Given the description of an element on the screen output the (x, y) to click on. 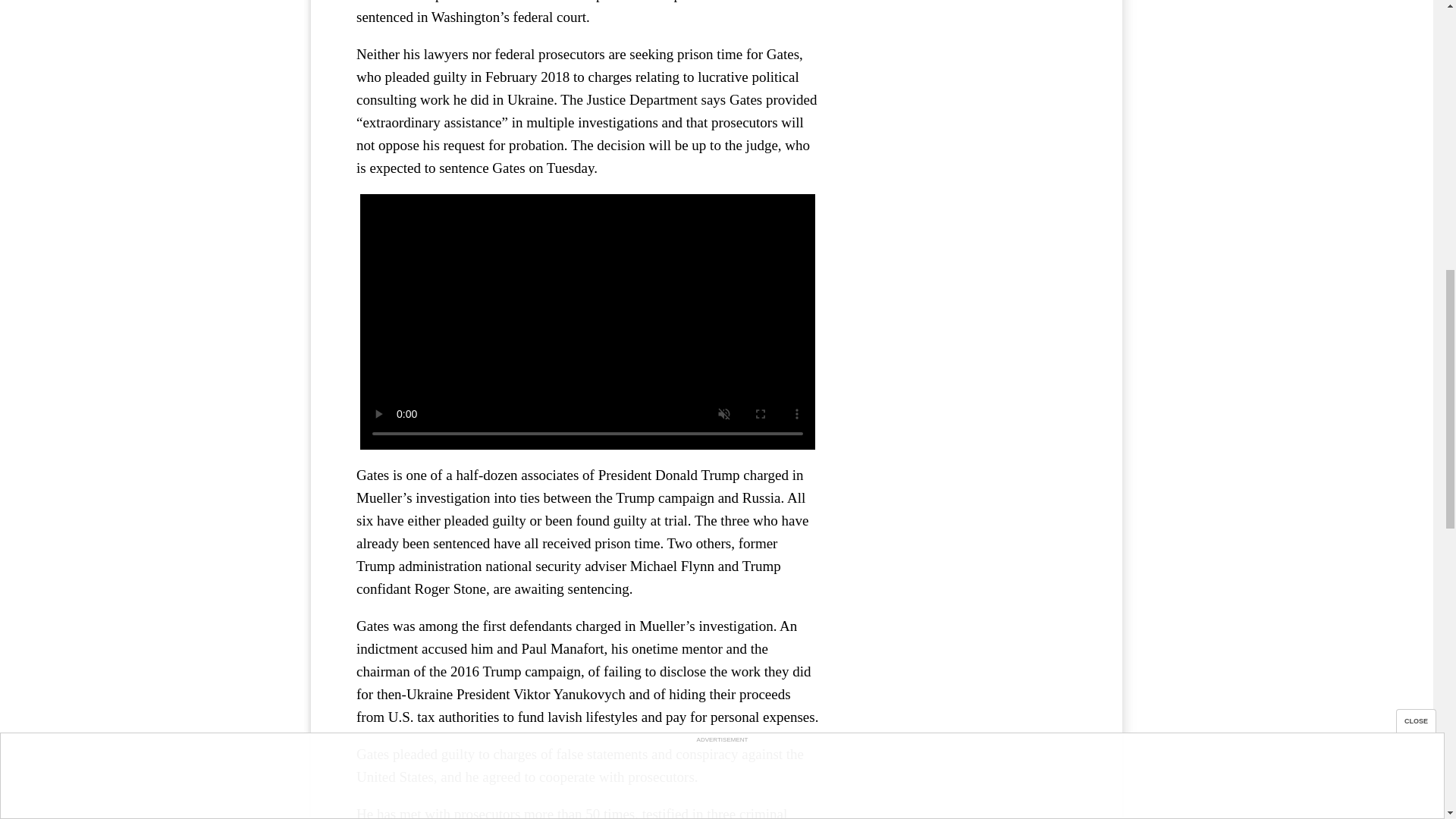
3rd party ad content (962, 106)
